Given the description of an element on the screen output the (x, y) to click on. 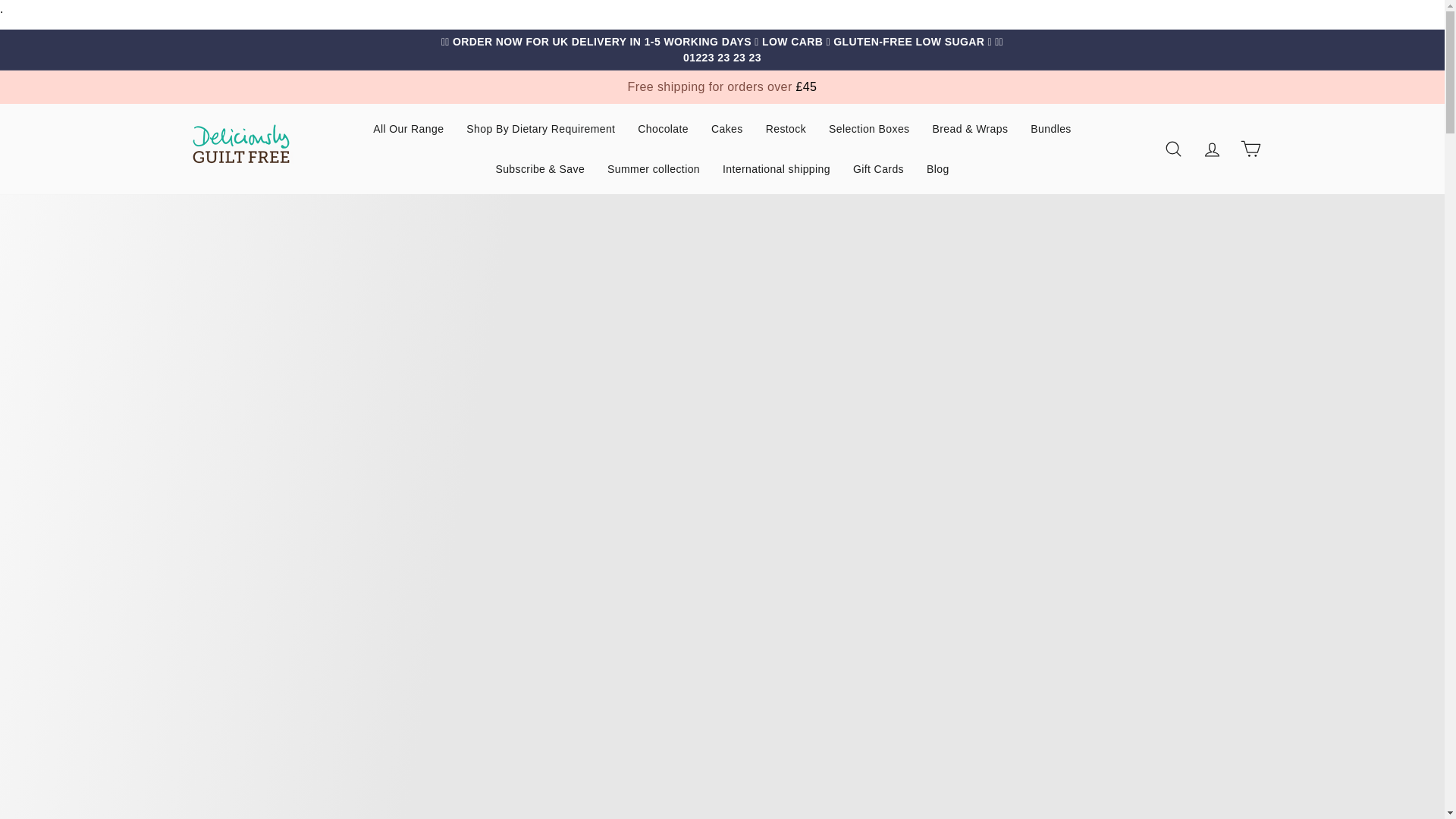
Summer collection (653, 168)
Shop By Dietary Requirement (540, 128)
Restock (785, 128)
International shipping (776, 168)
All Our Range (407, 128)
Bundles (1050, 128)
Blog (937, 168)
Chocolate (663, 128)
Cakes (727, 128)
